Given the description of an element on the screen output the (x, y) to click on. 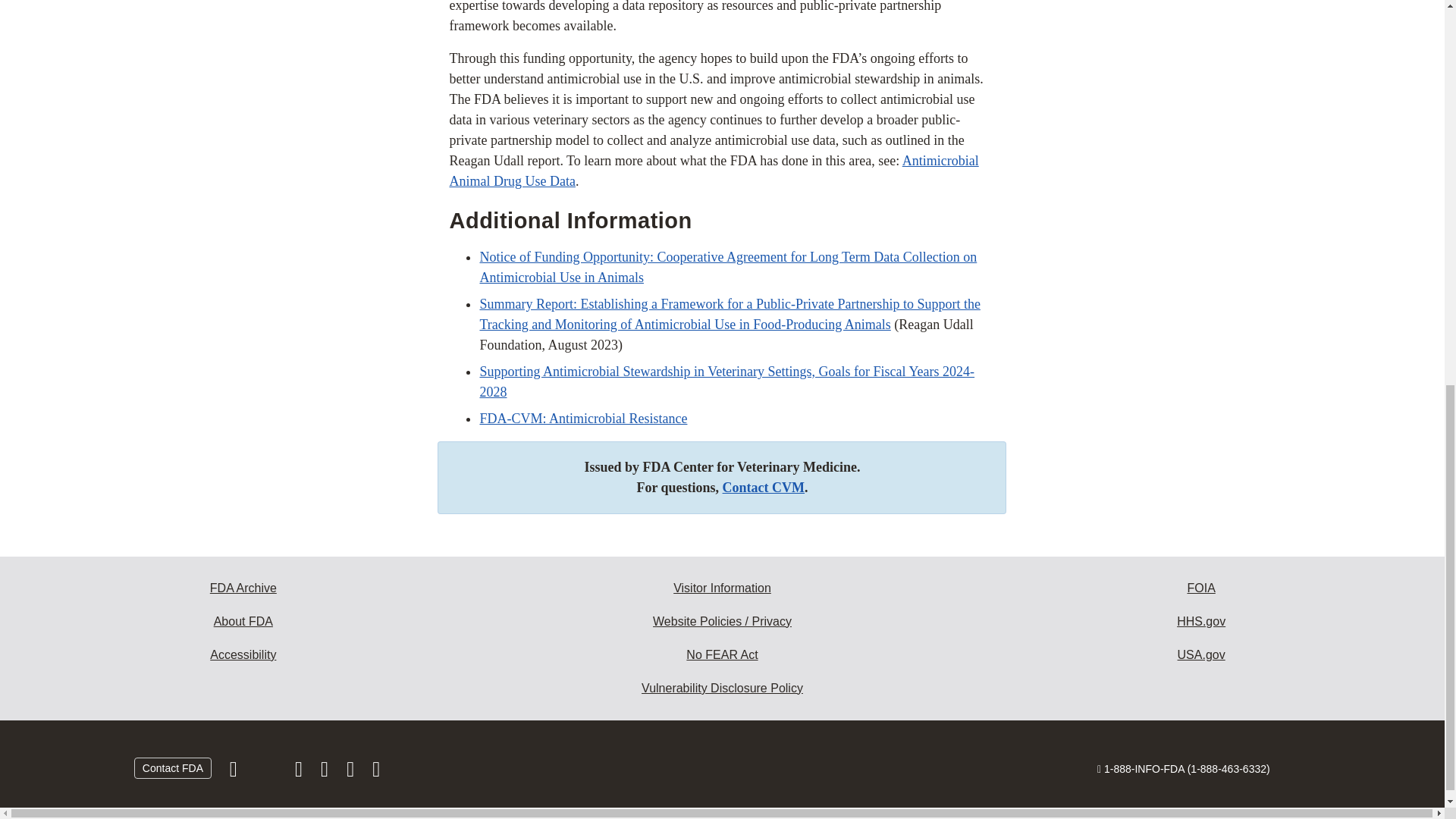
Antimicrobial Resistance (583, 418)
View FDA videos on YouTube (352, 772)
Freedom of Information Act (1200, 588)
Follow FDA on X (266, 772)
Follow FDA on Instagram (299, 772)
Subscribe to FDA RSS feeds (376, 772)
Follow FDA on LinkedIn (326, 772)
Contact CVM (763, 487)
Follow FDA on Facebook (234, 772)
Health and Human Services (1200, 621)
